Given the description of an element on the screen output the (x, y) to click on. 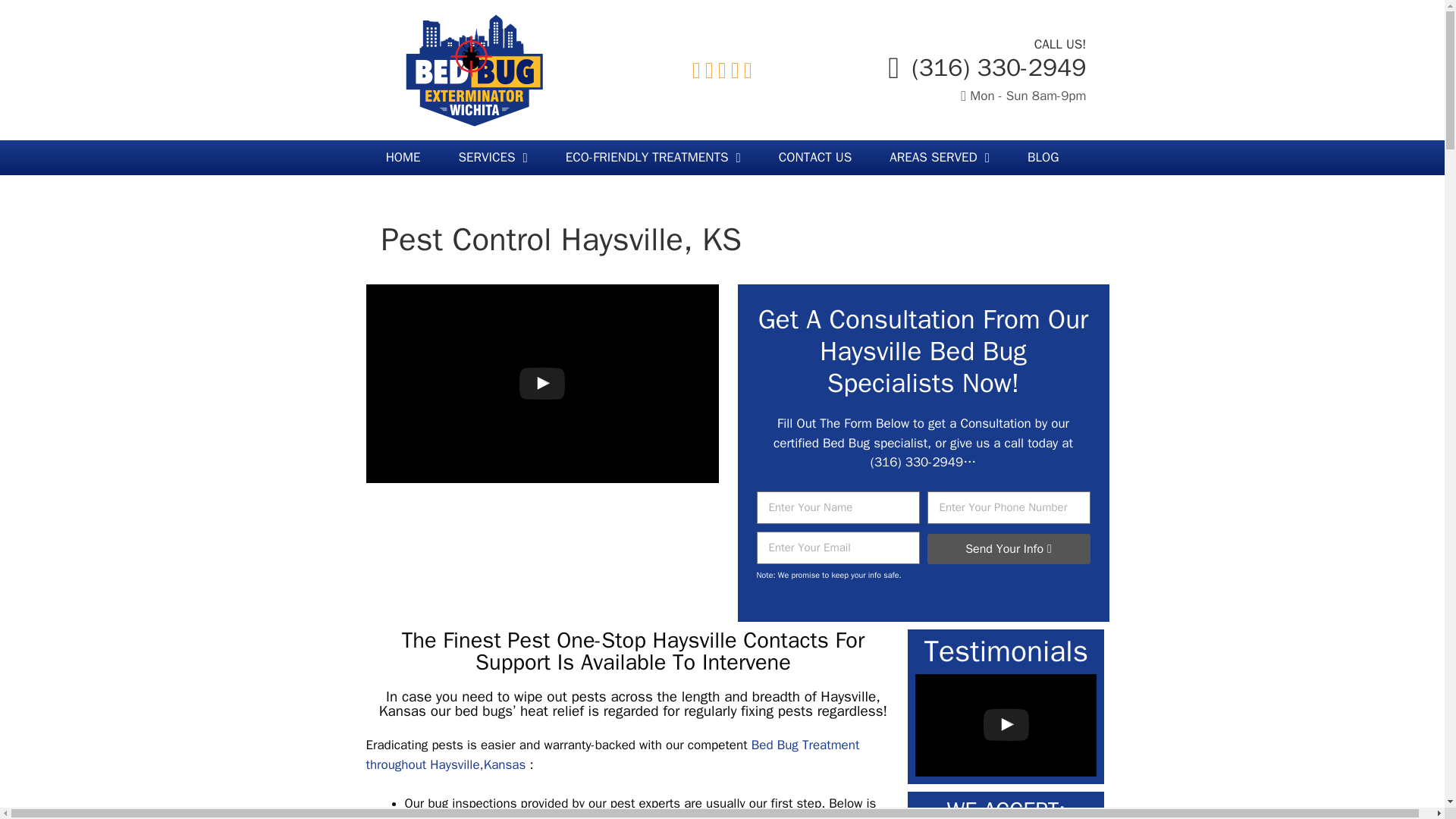
CONTACT US (815, 157)
HOME (402, 157)
SERVICES (493, 157)
ECO-FRIENDLY TREATMENTS (653, 157)
AREAS SERVED (939, 157)
